Given the description of an element on the screen output the (x, y) to click on. 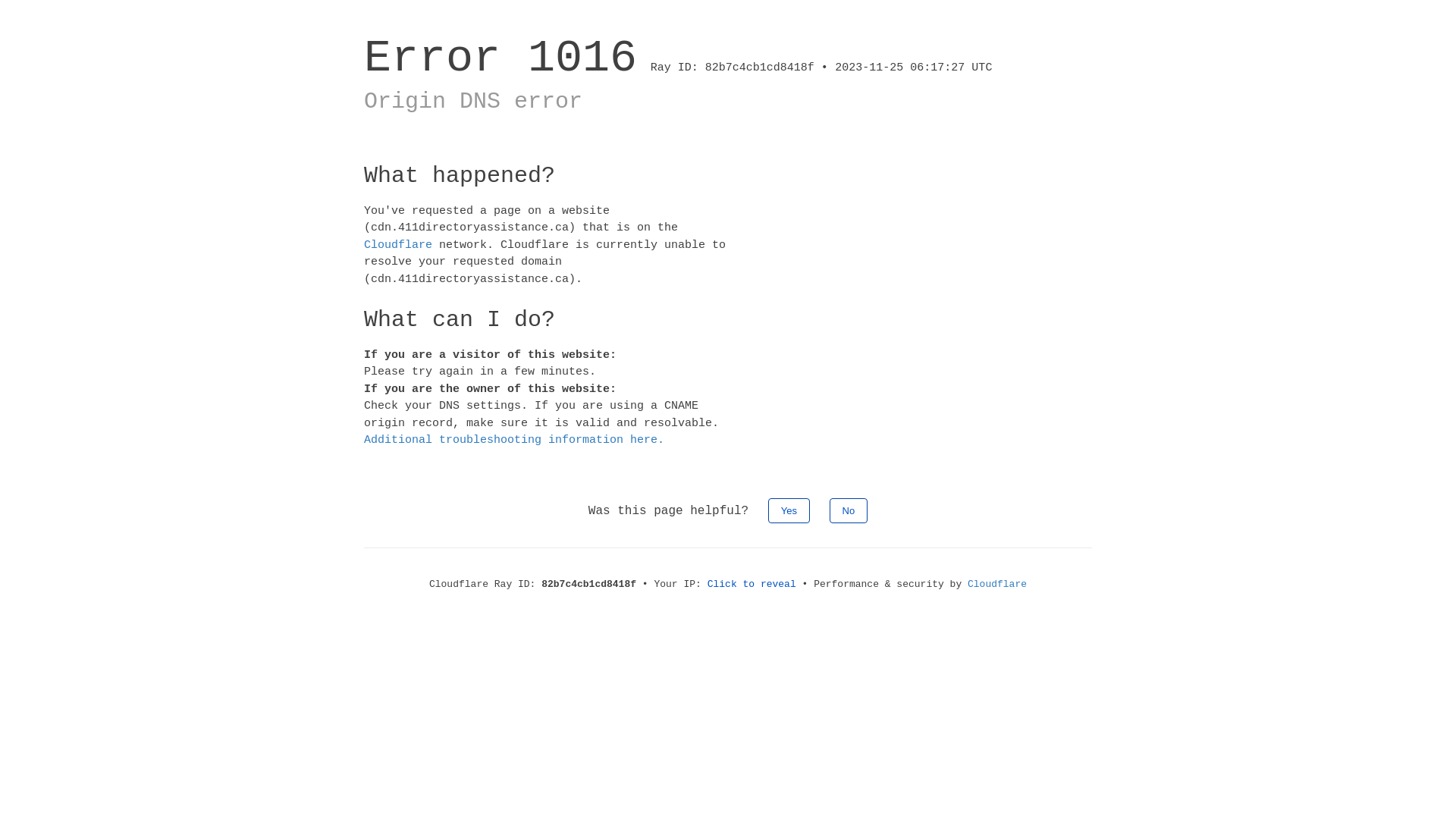
Additional troubleshooting information here. Element type: text (514, 439)
Yes Element type: text (788, 509)
Click to reveal Element type: text (751, 583)
Cloudflare Element type: text (398, 244)
Cloudflare Element type: text (996, 583)
No Element type: text (848, 509)
